Given the description of an element on the screen output the (x, y) to click on. 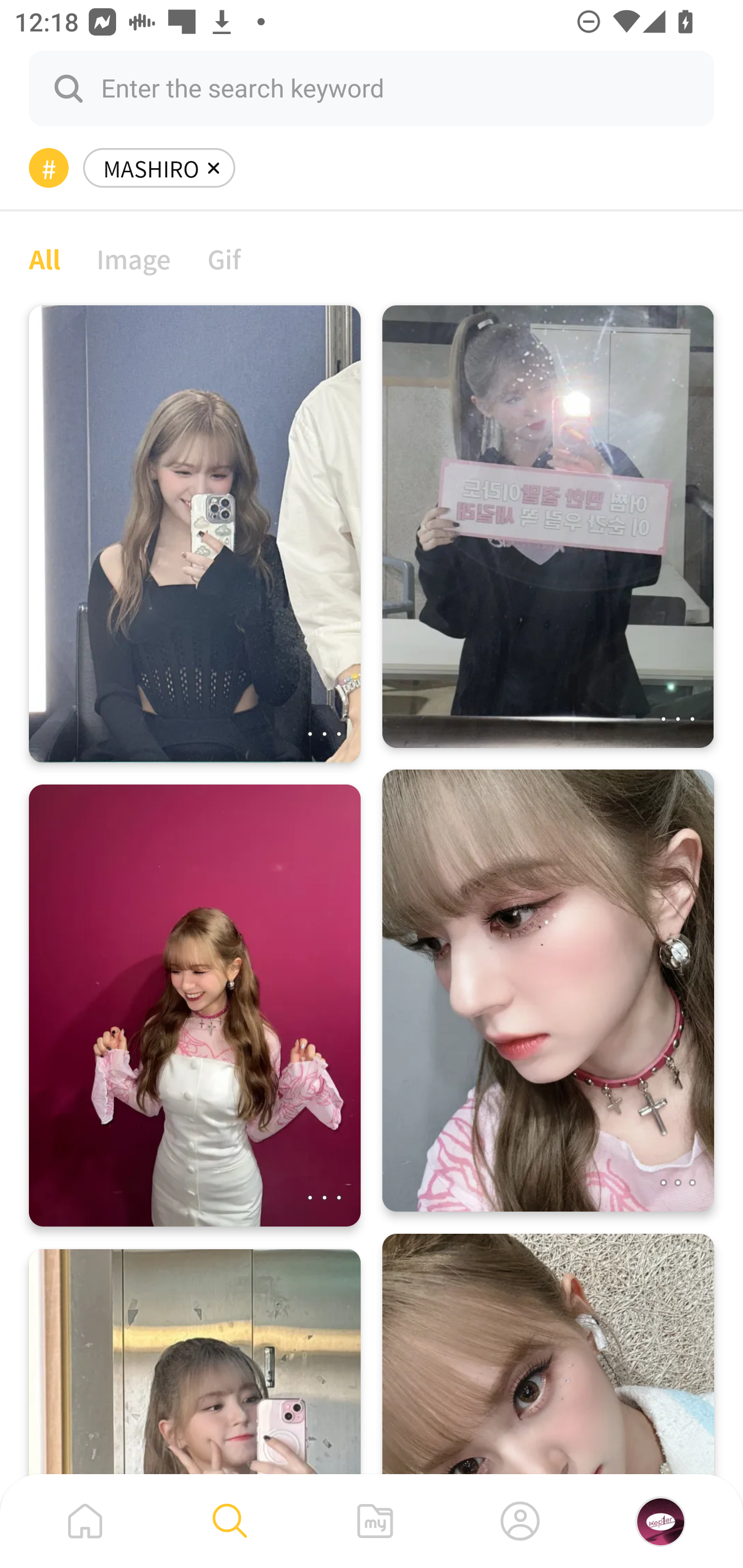
All (44, 257)
Image (133, 257)
Gif (223, 257)
